Given the description of an element on the screen output the (x, y) to click on. 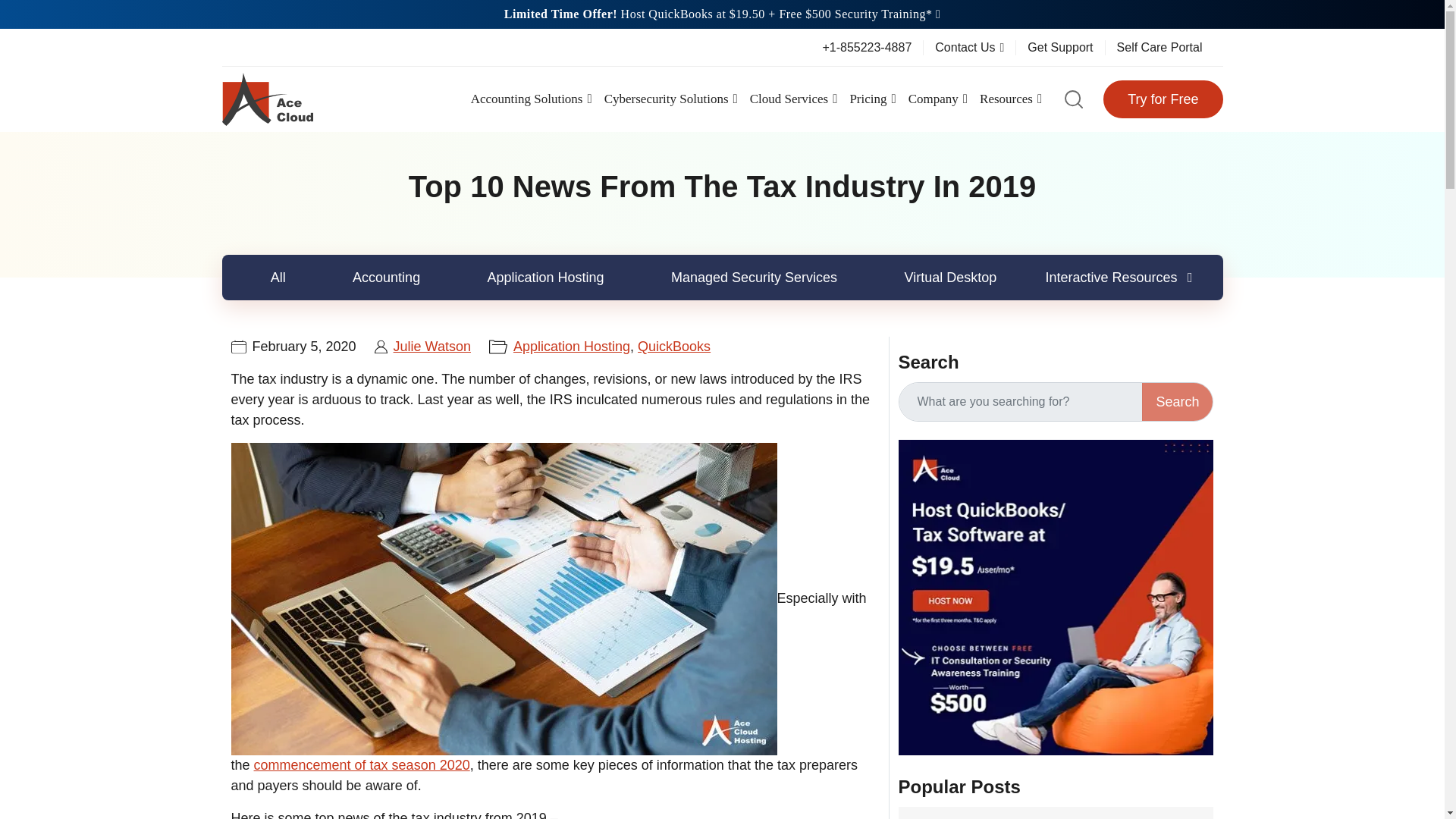
Search (1176, 401)
Accounting Solutions (531, 99)
Contact Us (968, 47)
Self Care Portal (1159, 47)
Get Support (1059, 47)
